Given the description of an element on the screen output the (x, y) to click on. 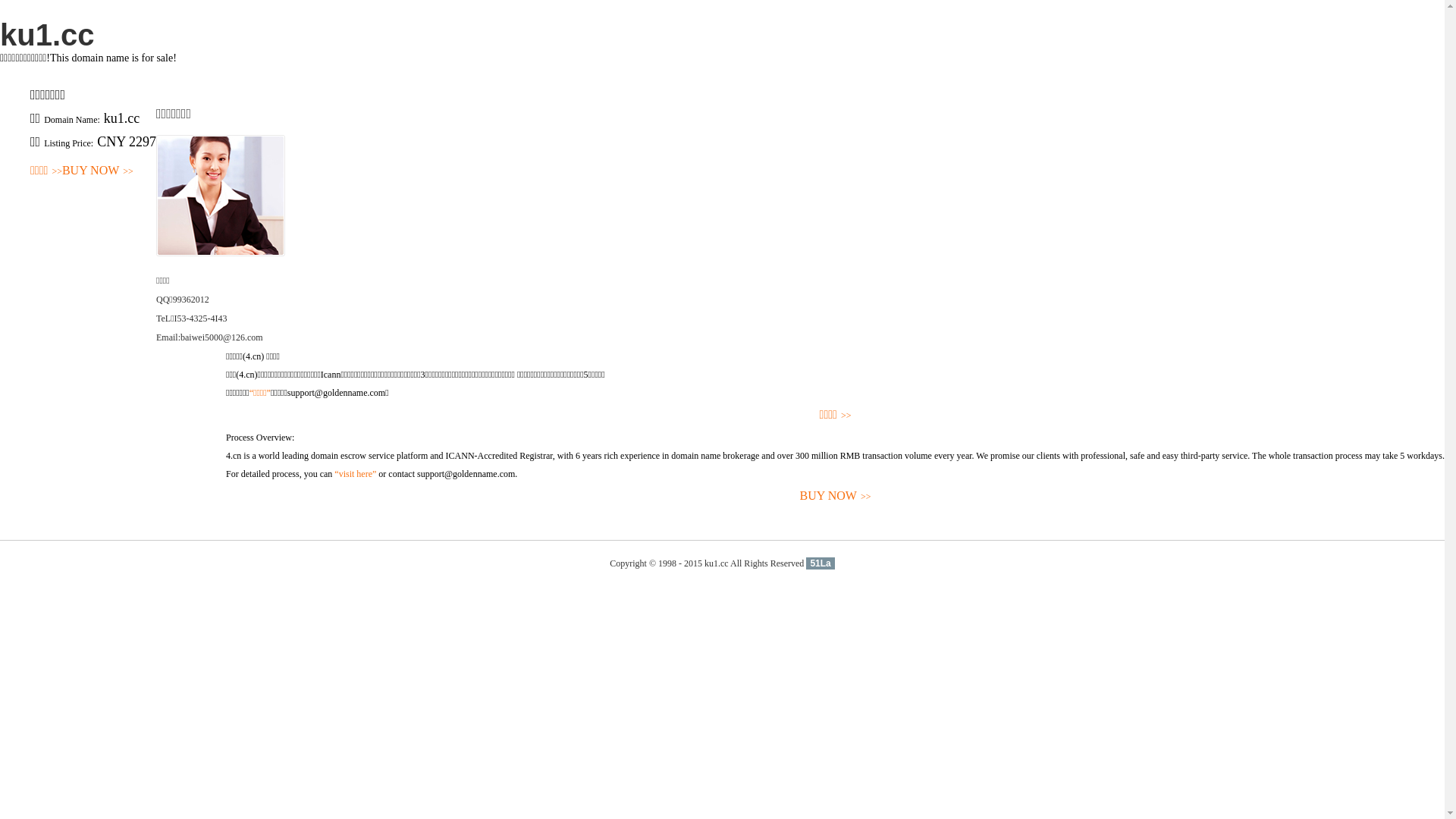
BUY NOW>> Element type: text (834, 496)
BUY NOW>> Element type: text (97, 170)
51La Element type: text (820, 563)
